Given the description of an element on the screen output the (x, y) to click on. 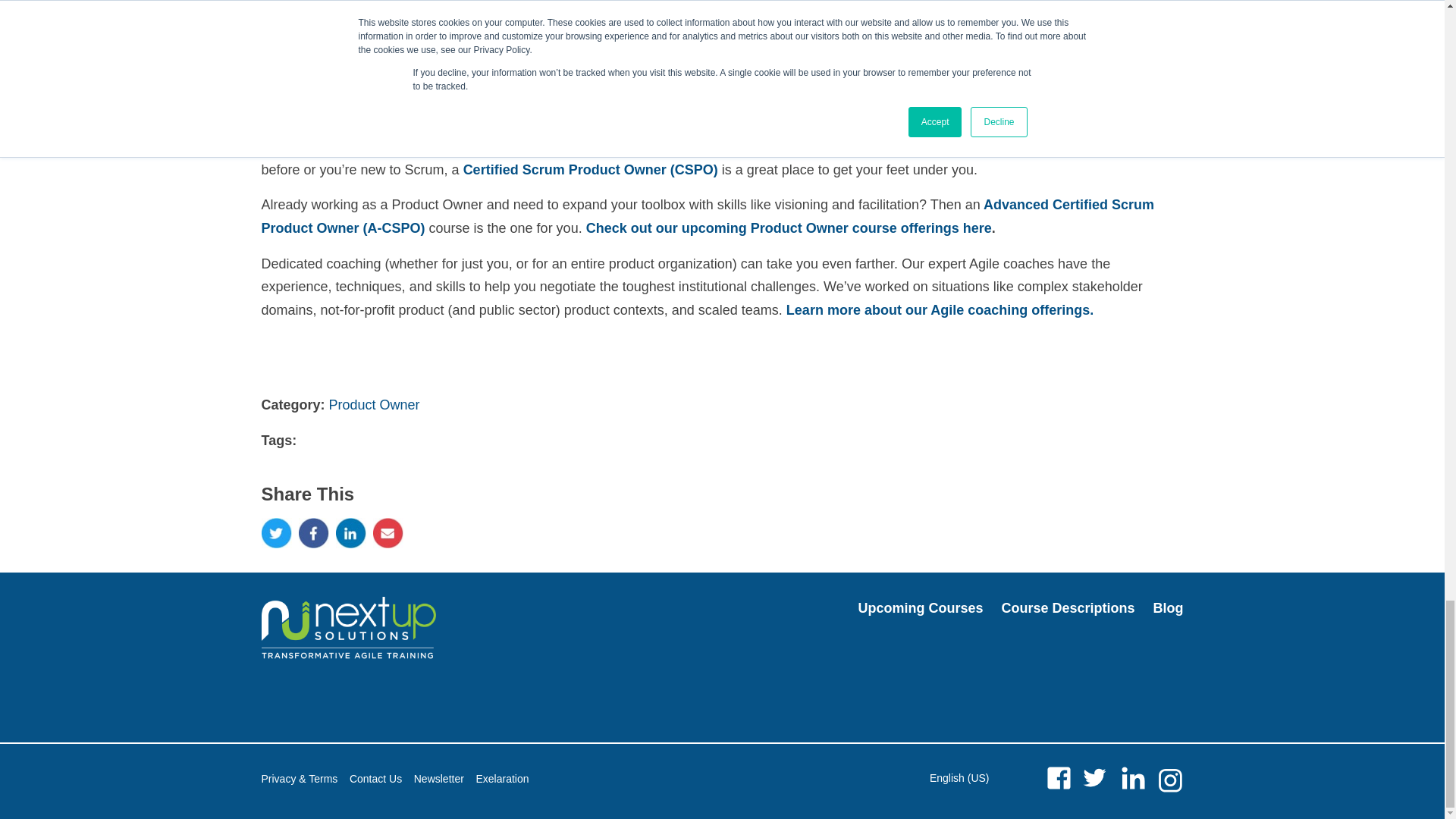
Blog (1167, 607)
Check out our upcoming Product Owner course offerings here (788, 227)
Contact Us (375, 779)
NextUp Solutions (347, 628)
Upcoming Courses (919, 607)
Share on Twitter (275, 532)
Share on LinkedIn (351, 532)
Share on Facebook (313, 532)
Learn more about our Agile coaching offerings. (939, 309)
Course Descriptions (1067, 607)
Product Owner (374, 404)
Share via email (387, 532)
